Given the description of an element on the screen output the (x, y) to click on. 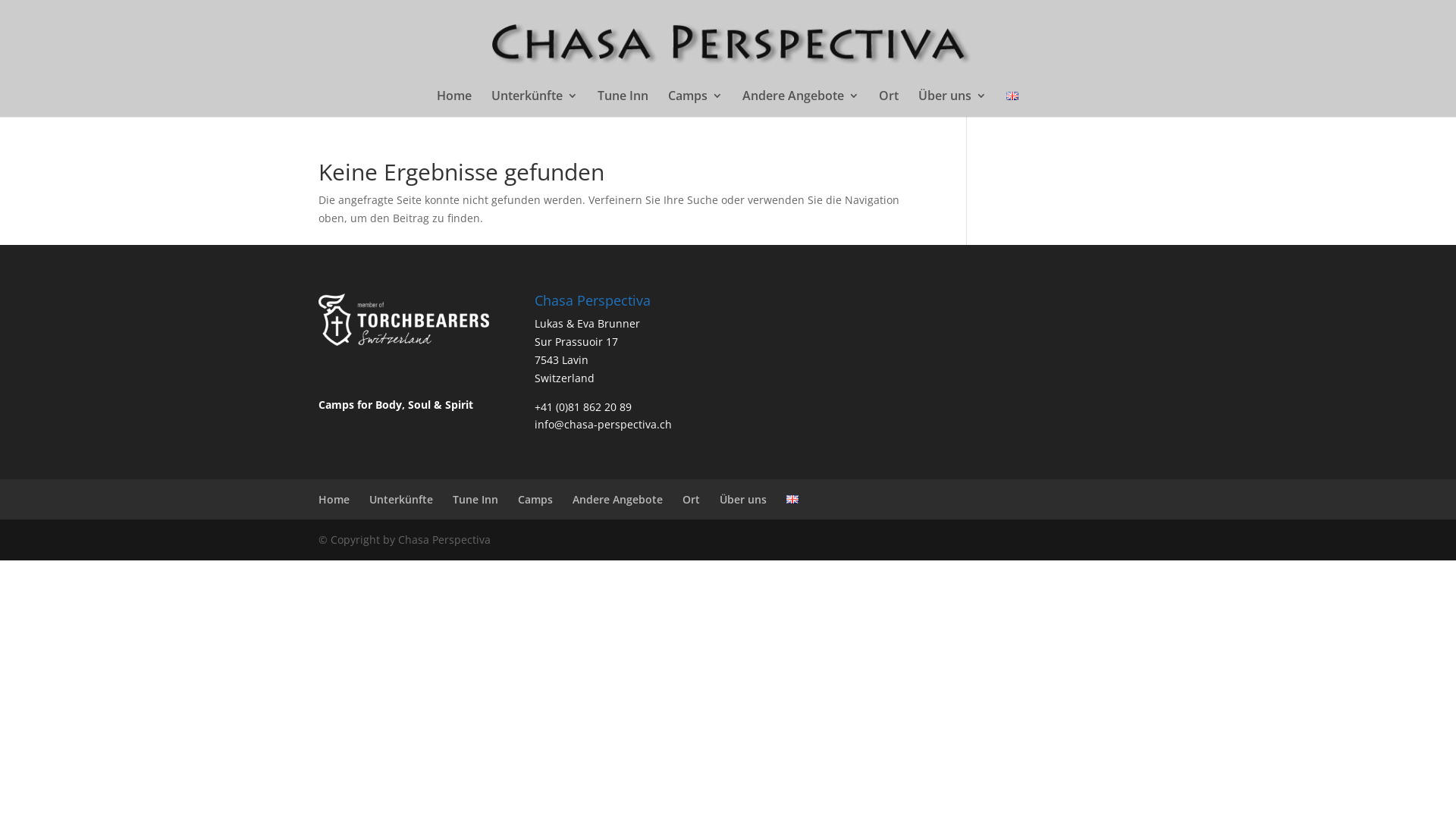
Camps Element type: text (534, 499)
Ort Element type: text (690, 499)
Andere Angebote Element type: text (799, 103)
Andere Angebote Element type: text (617, 499)
Tune Inn Element type: text (622, 103)
Tune Inn Element type: text (475, 499)
Camps for Body, Soul & Spirit Element type: text (395, 404)
Home Element type: text (333, 499)
info@chasa-perspectiva.ch Element type: text (602, 424)
Camps Element type: text (694, 103)
Ort Element type: text (887, 103)
Home Element type: text (453, 103)
